Given the description of an element on the screen output the (x, y) to click on. 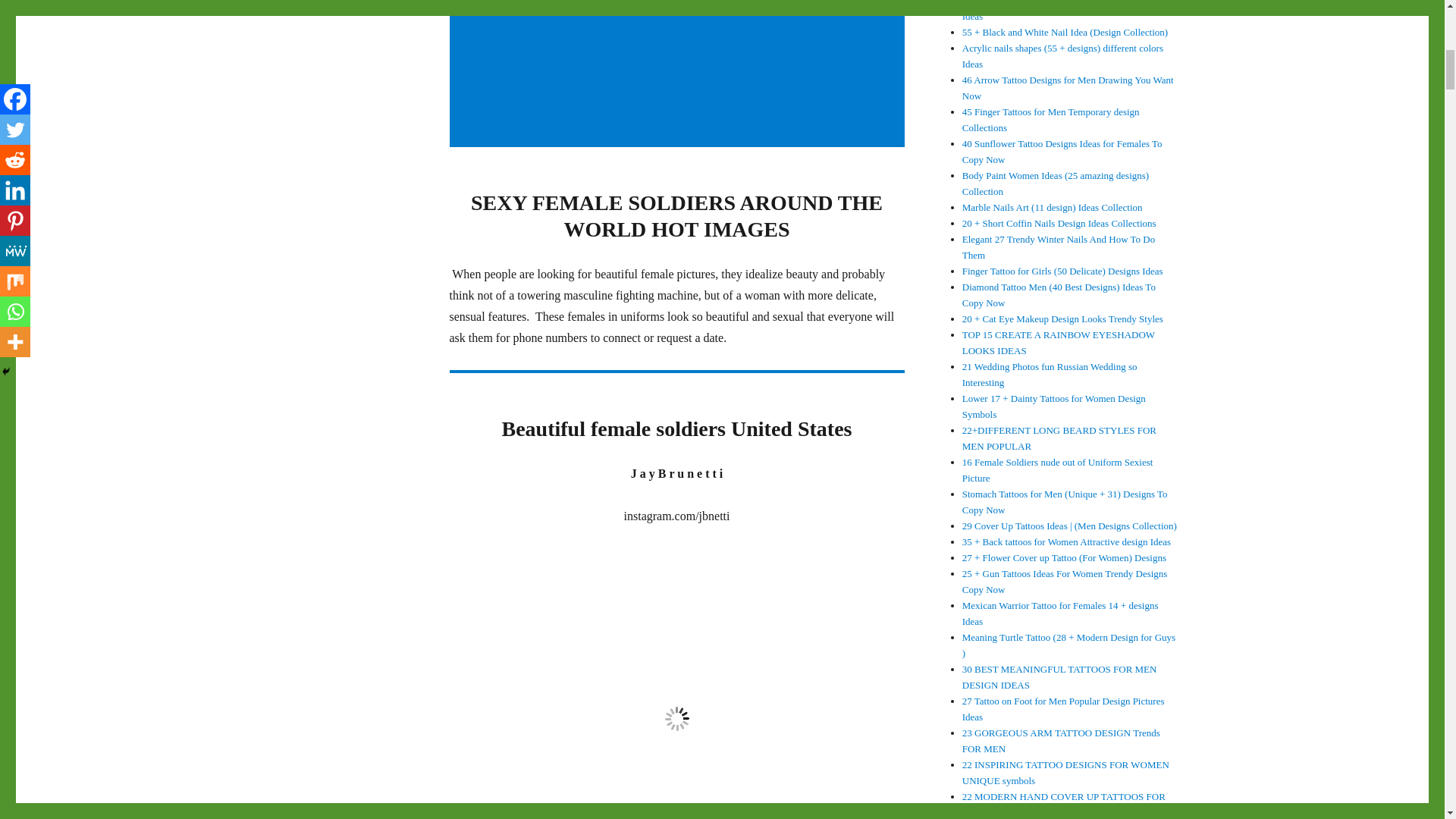
Advertisement (679, 74)
